Given the description of an element on the screen output the (x, y) to click on. 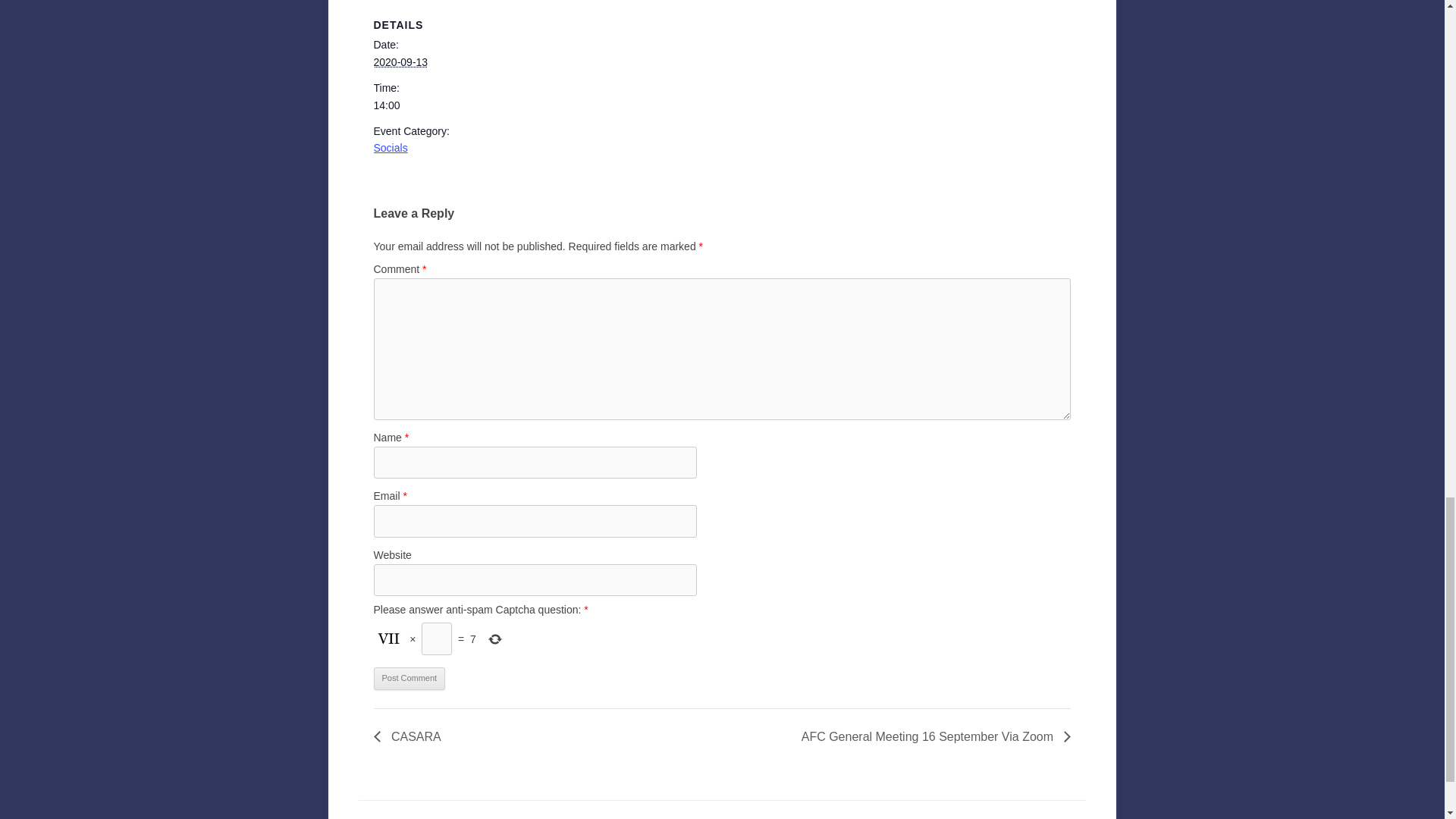
2020-09-13 (400, 61)
Post Comment (408, 678)
2020-09-13 (436, 104)
